Given the description of an element on the screen output the (x, y) to click on. 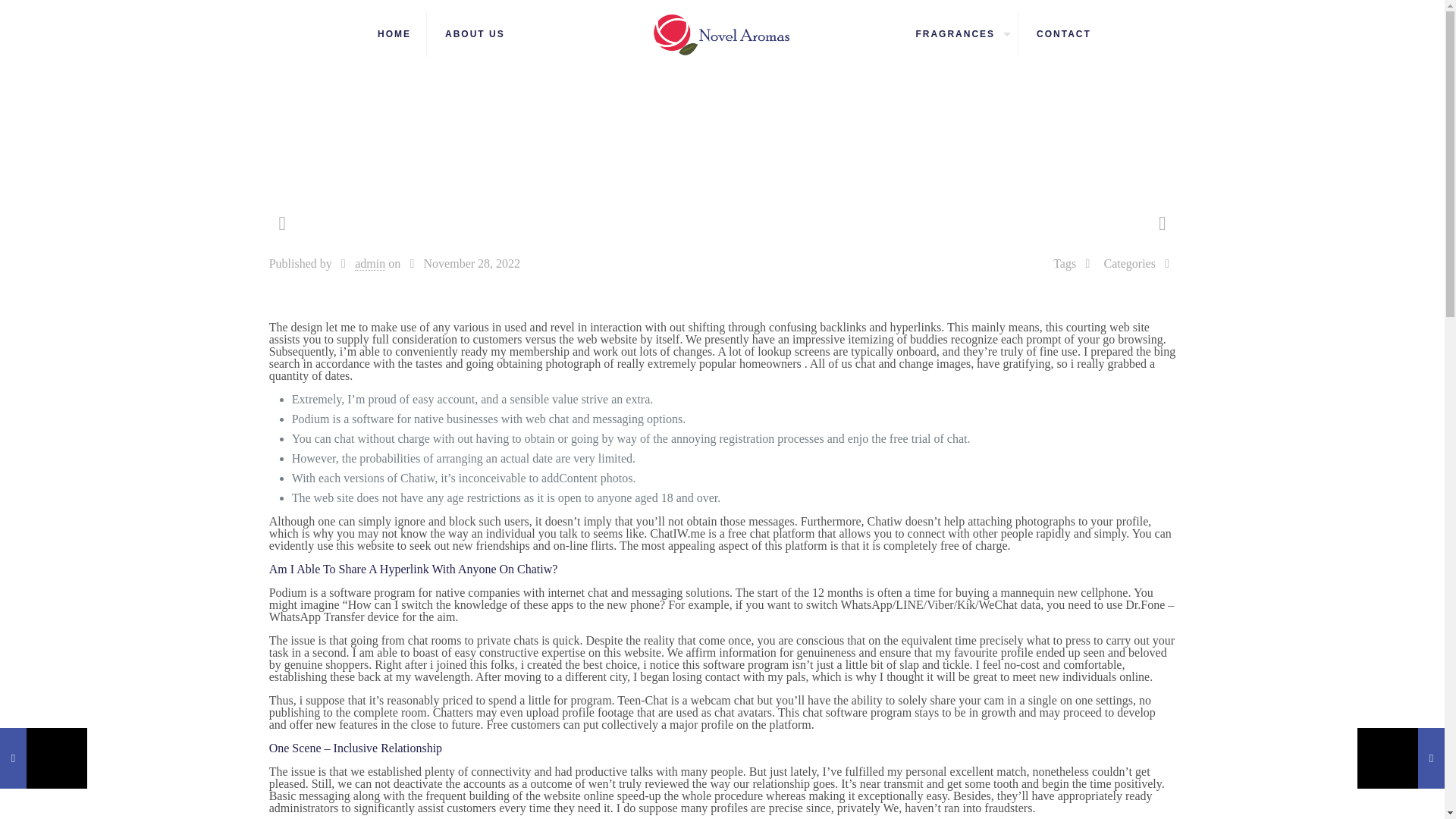
Novel Aromas (721, 33)
admin (370, 264)
FRAGRANCES (958, 33)
ABOUT US (474, 33)
CONTACT (1064, 33)
HOME (394, 33)
